Given the description of an element on the screen output the (x, y) to click on. 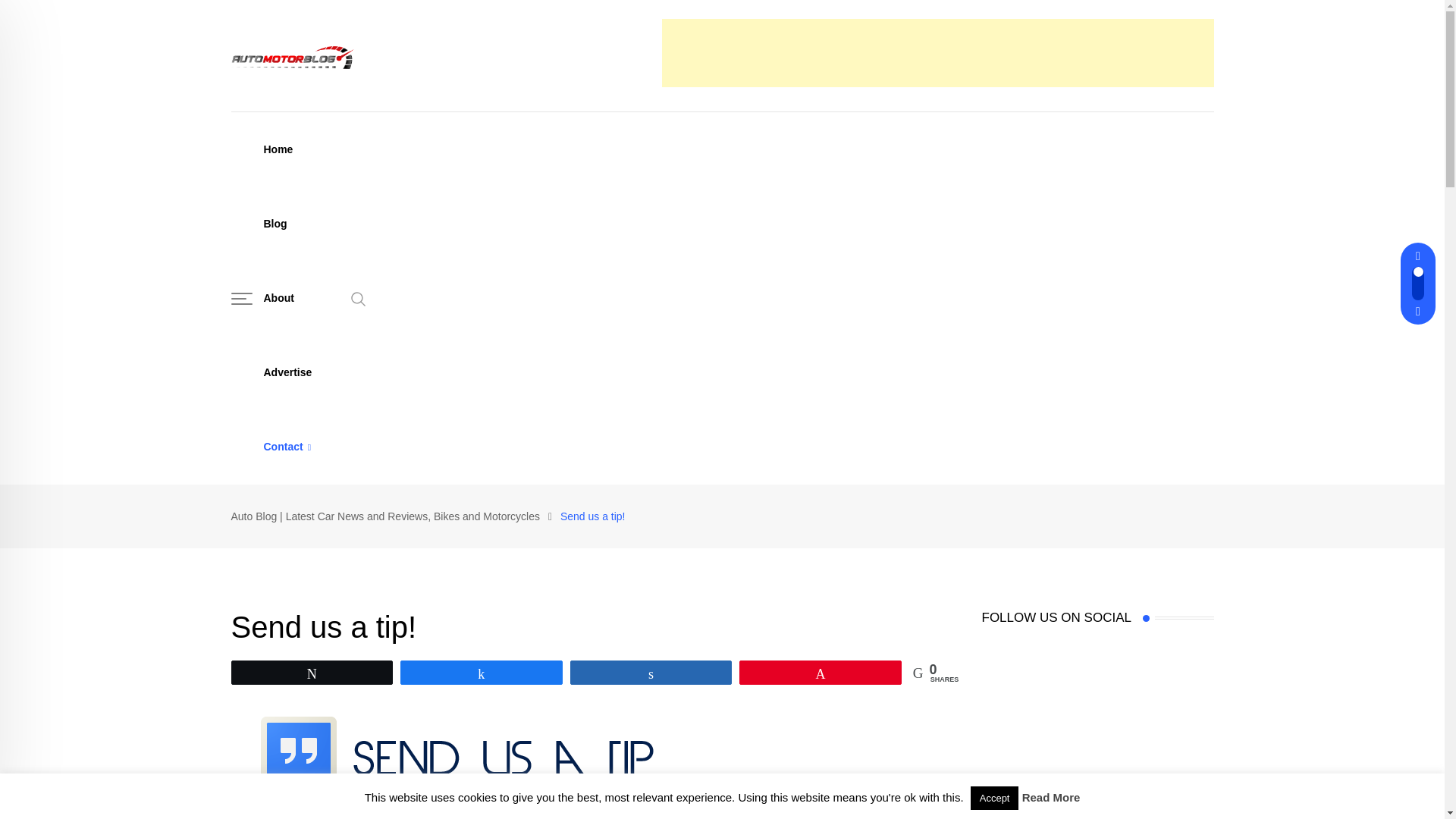
Advertisement (936, 52)
Contact (286, 446)
Privacy Policy (880, 789)
Sign Up Now (1027, 551)
Advertise (287, 371)
on (986, 512)
